Given the description of an element on the screen output the (x, y) to click on. 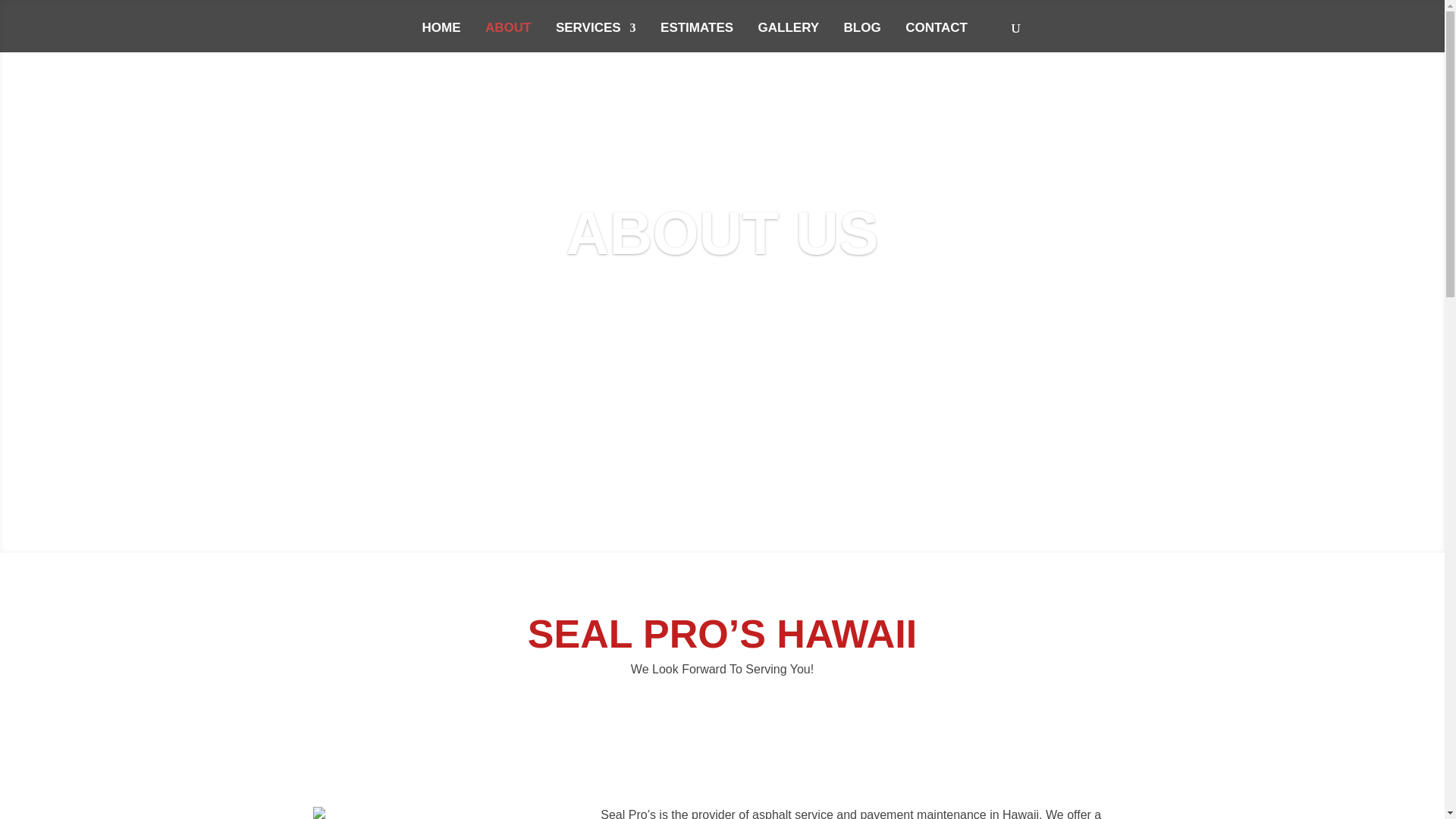
CONTACT (936, 37)
BLOG (862, 37)
g414-1 (318, 813)
ABOUT (507, 37)
HOME (441, 37)
SERVICES (596, 37)
ESTIMATES (697, 37)
GALLERY (788, 37)
